Given the description of an element on the screen output the (x, y) to click on. 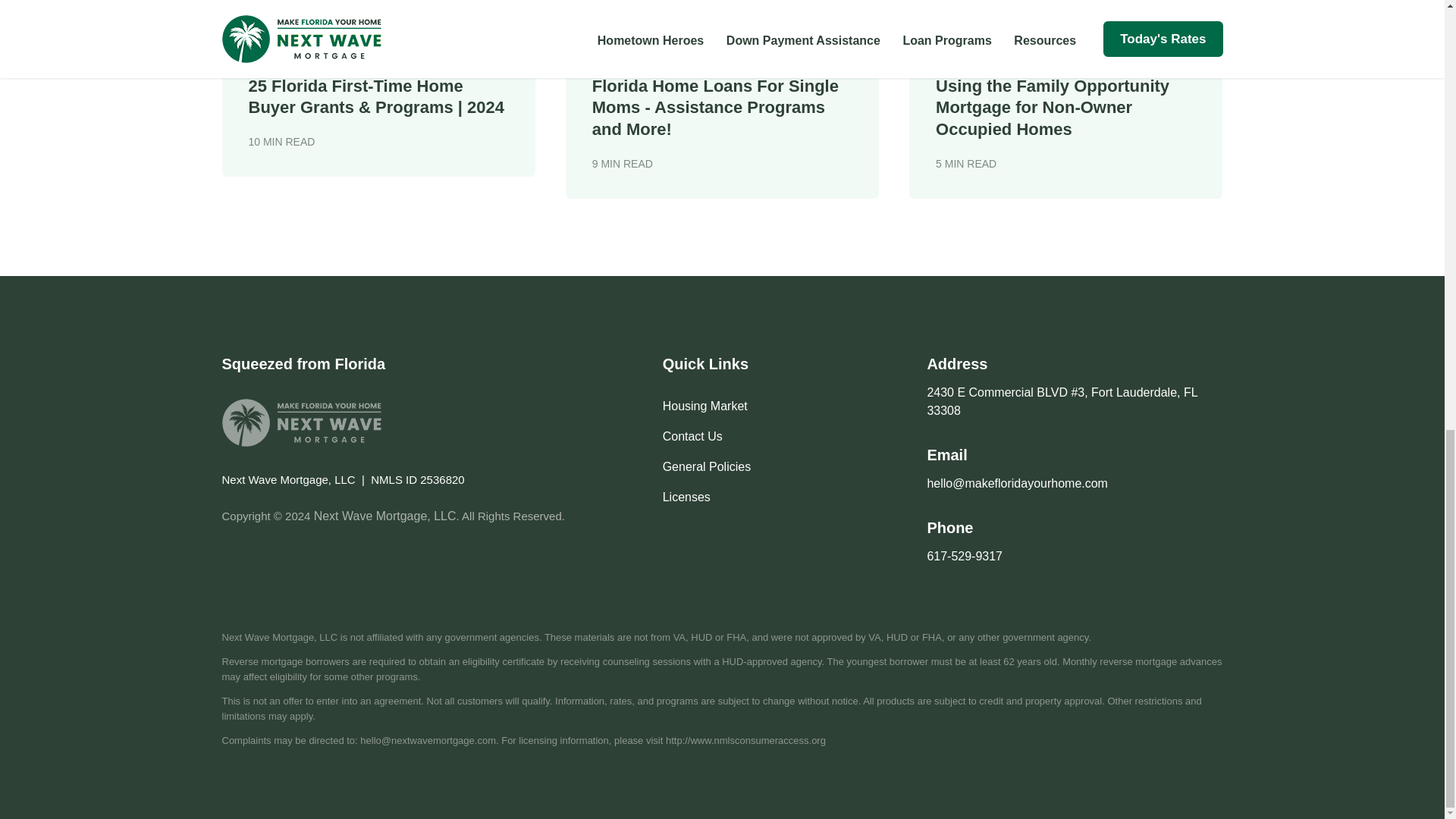
General Policies (706, 466)
Licenses (686, 496)
Housing Market (705, 405)
Make Florida Your Home (300, 422)
Contact Us (692, 436)
